Given the description of an element on the screen output the (x, y) to click on. 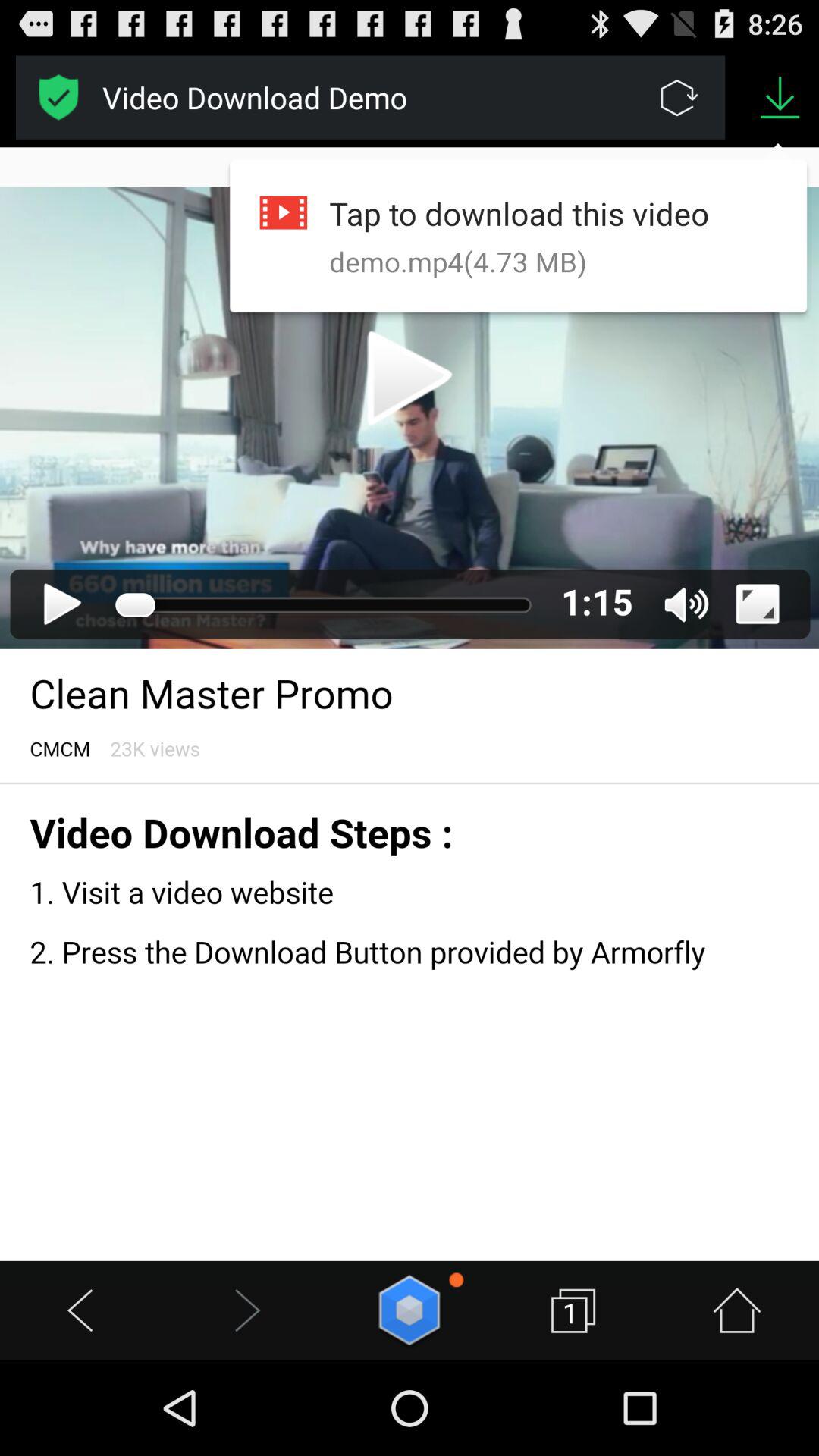
advertisement banner would take off site (59, 97)
